Given the description of an element on the screen output the (x, y) to click on. 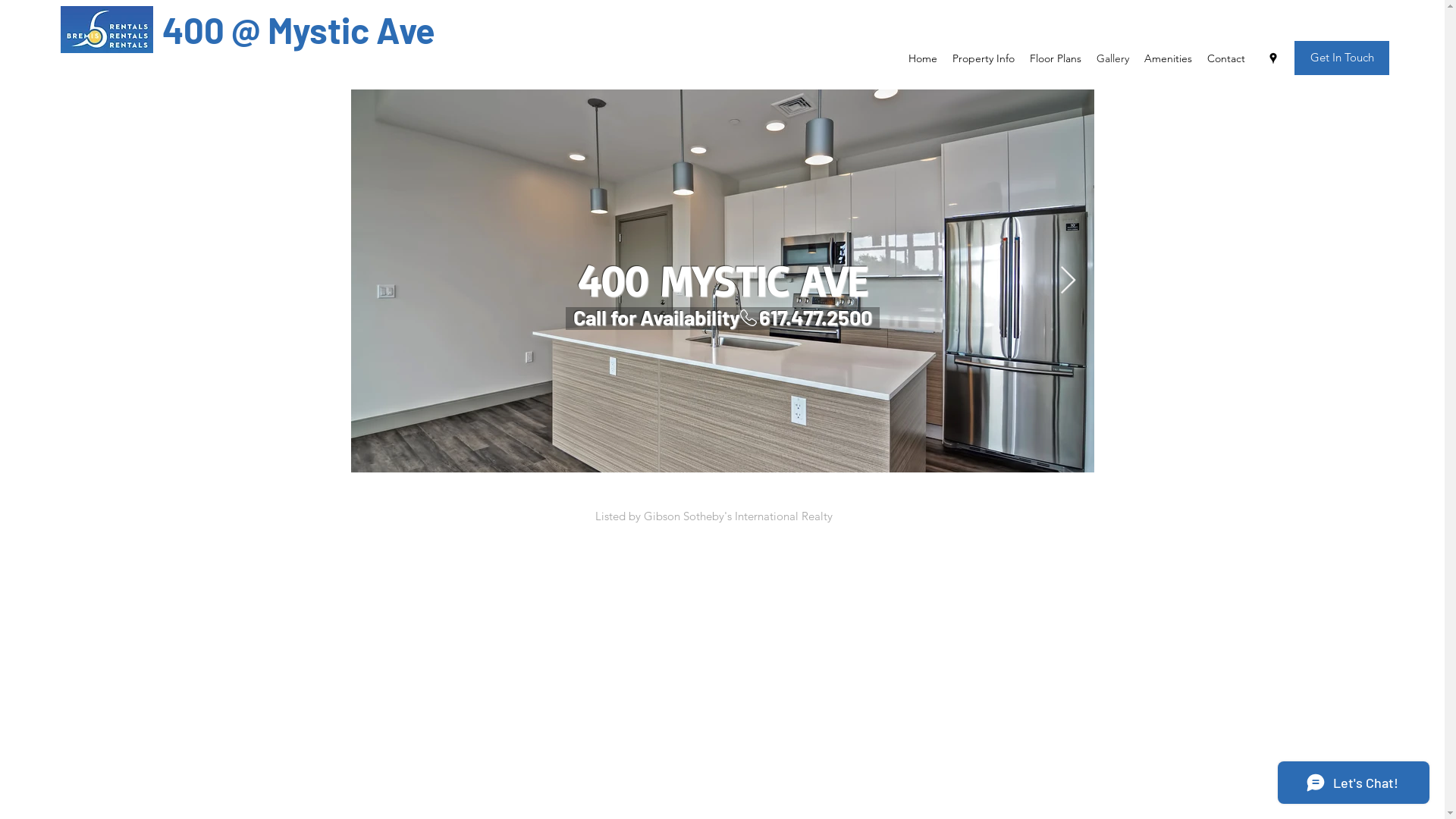
Floor Plans Element type: text (1055, 58)
Gallery Element type: text (1112, 58)
Home Element type: text (922, 58)
Contact Element type: text (1225, 58)
Property Info Element type: text (983, 58)
400 @ Mystic Ave Element type: text (298, 29)
Amenities Element type: text (1167, 58)
Get In Touch Element type: text (1341, 57)
